Given the description of an element on the screen output the (x, y) to click on. 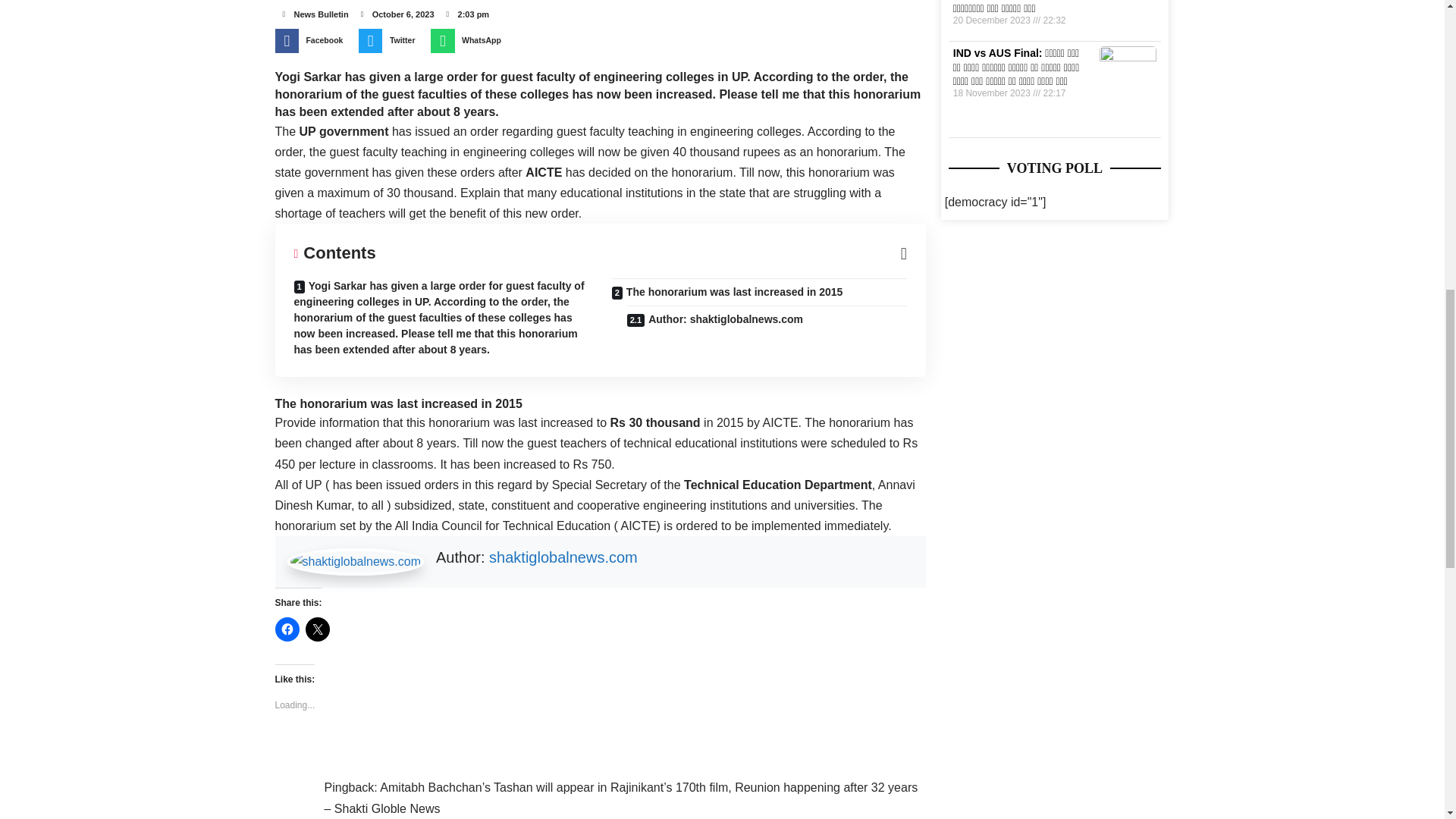
Click to share on Facebook (286, 629)
Click to share on X (316, 629)
